Given the description of an element on the screen output the (x, y) to click on. 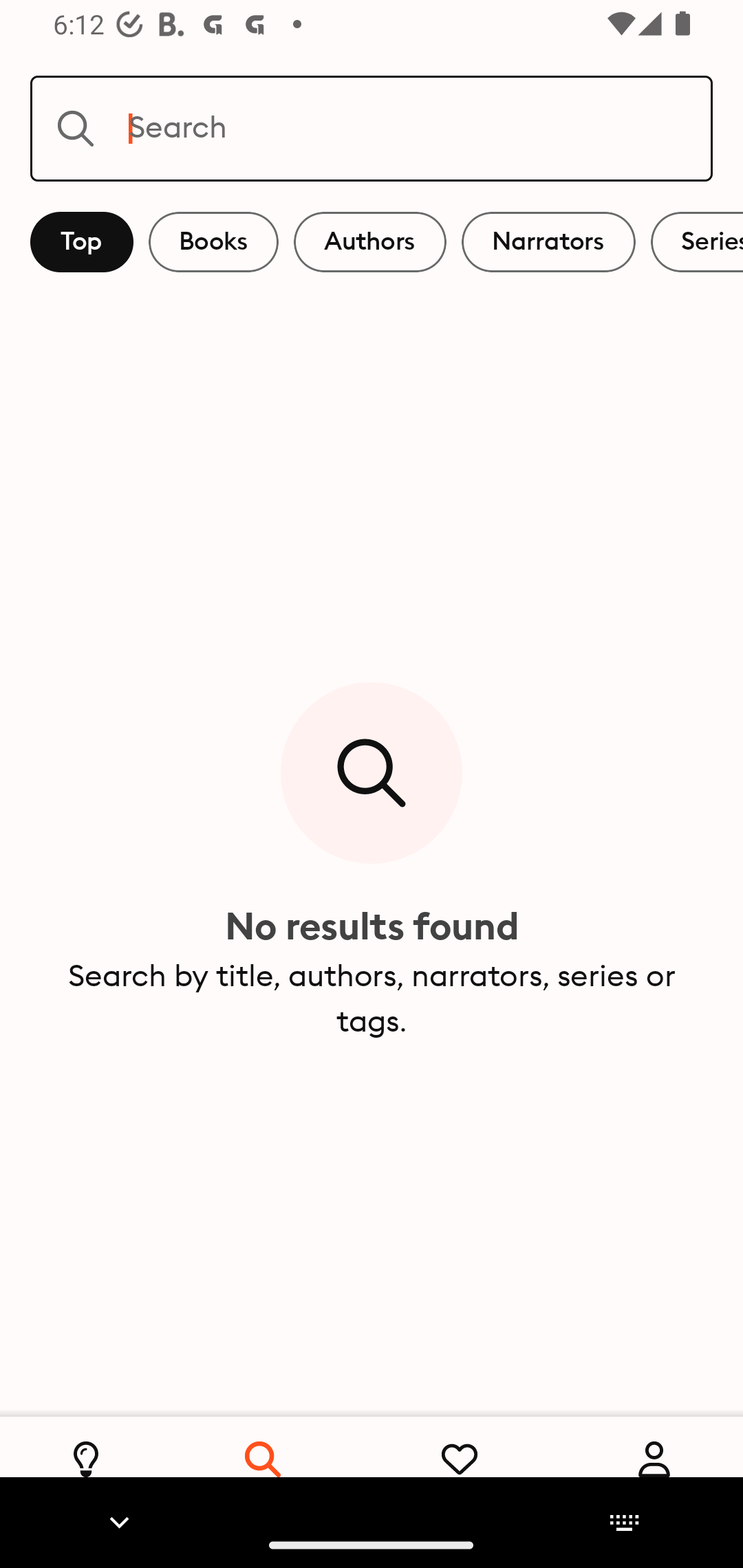
Search (371, 128)
Top (81, 241)
Books (213, 241)
Authors (369, 241)
Narrators (548, 241)
Series (696, 241)
